Given the description of an element on the screen output the (x, y) to click on. 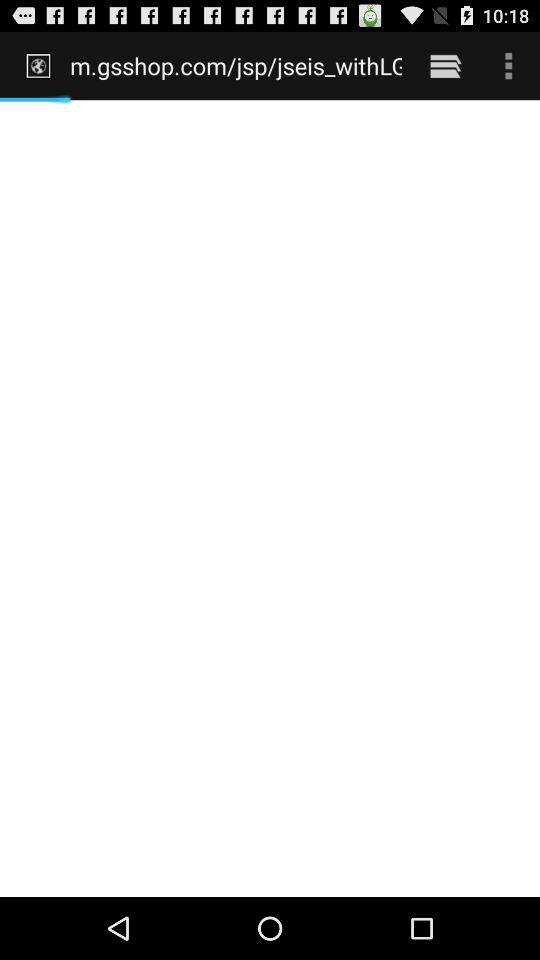
turn off m gsshop com item (235, 65)
